Given the description of an element on the screen output the (x, y) to click on. 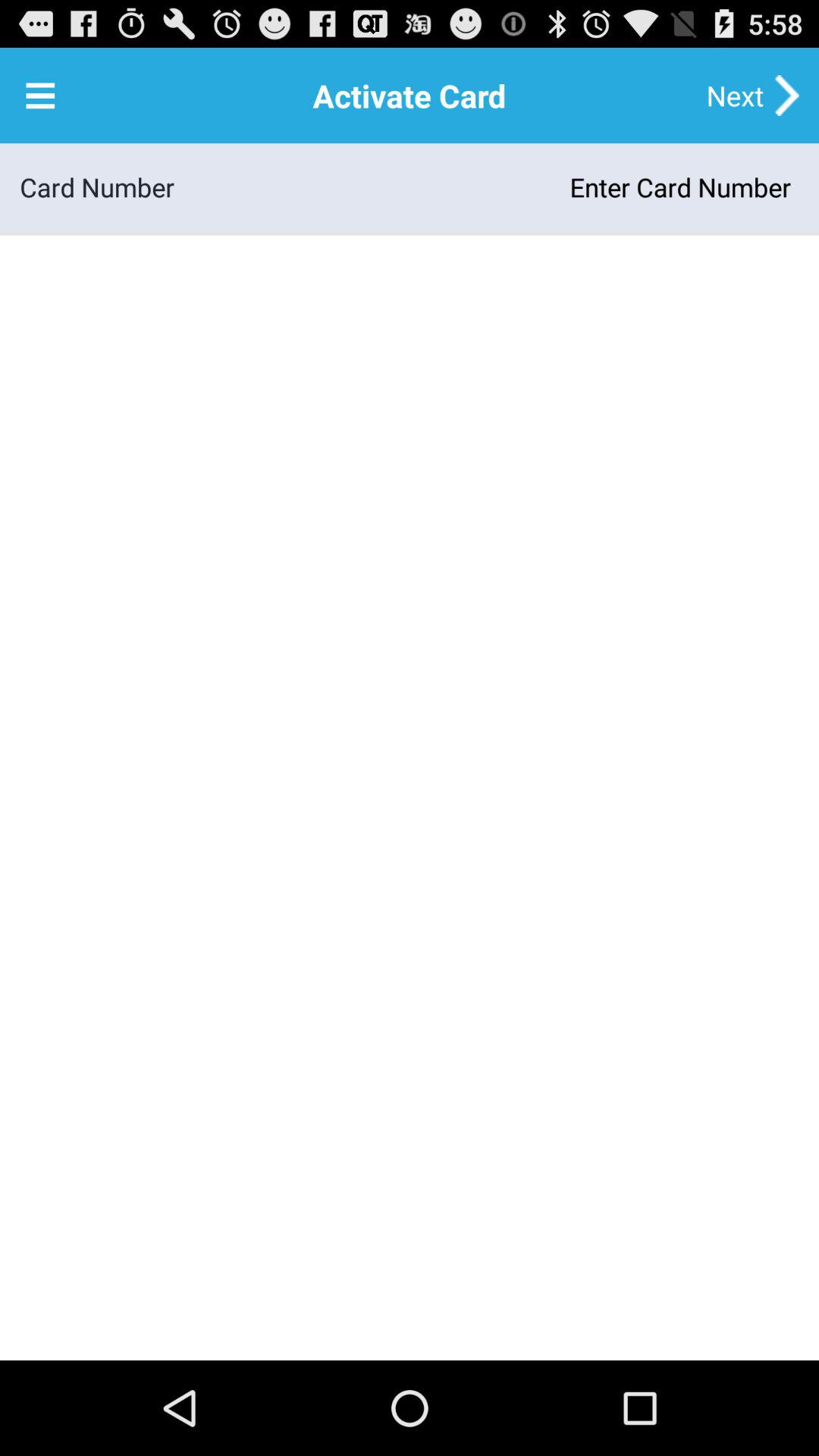
tap the item next to card number icon (486, 186)
